Given the description of an element on the screen output the (x, y) to click on. 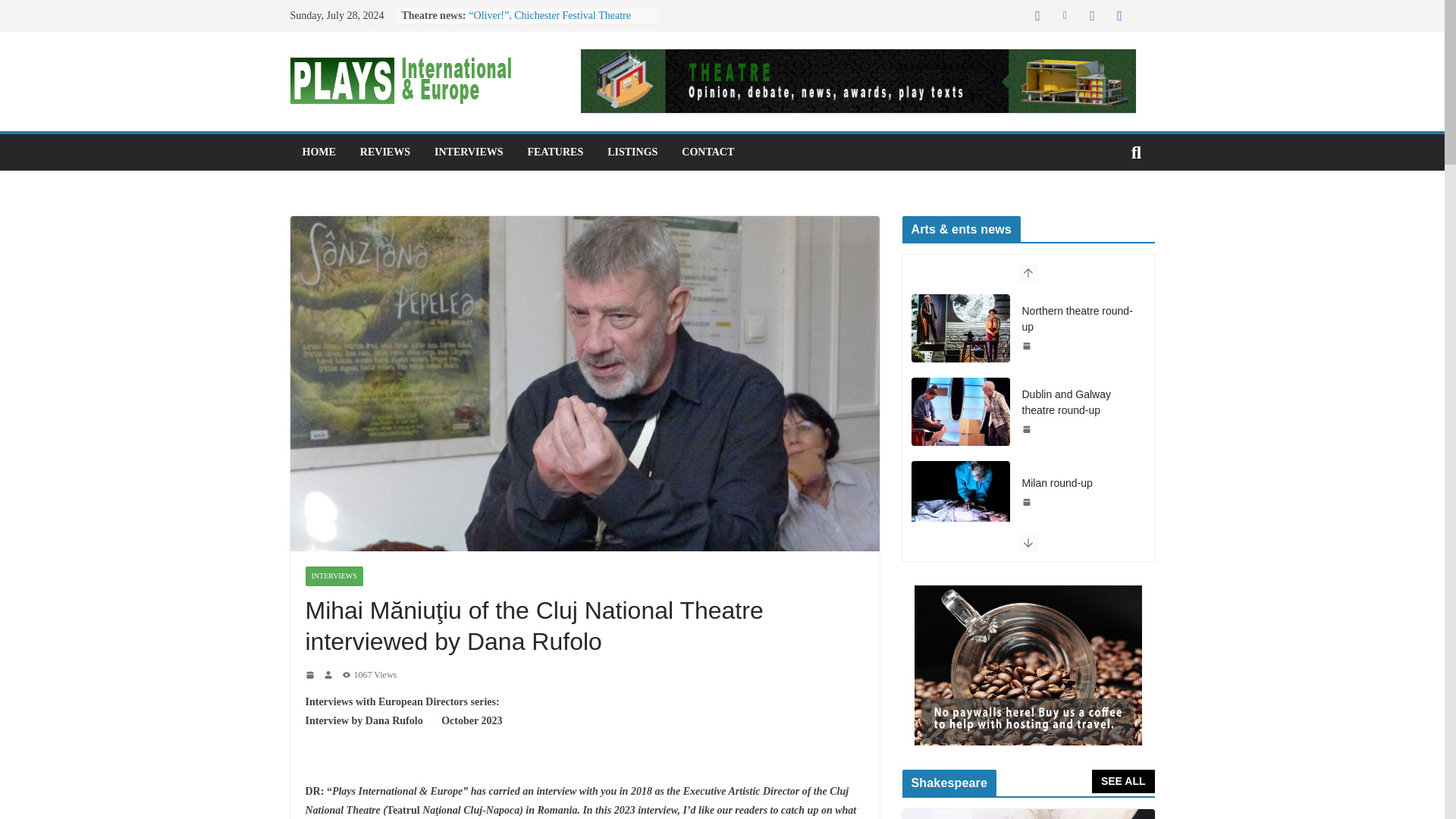
FEATURES (555, 151)
LISTINGS (632, 151)
REVIEWS (384, 151)
CONTACT (707, 151)
INTERVIEWS (468, 151)
INTERVIEWS (333, 575)
HOME (317, 151)
